Given the description of an element on the screen output the (x, y) to click on. 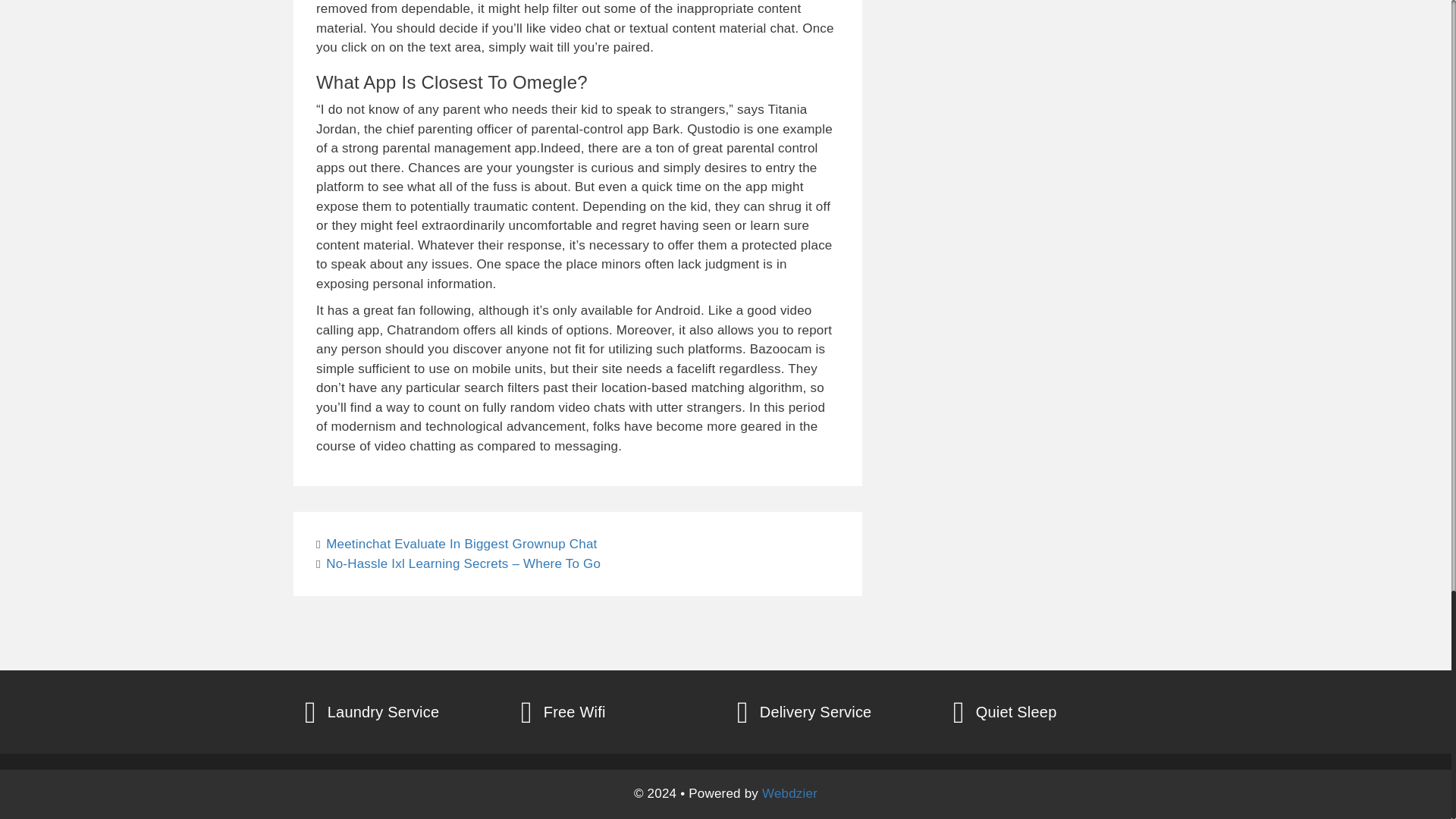
Previous (455, 544)
Webdzier (788, 793)
Next (457, 563)
Meetinchat Evaluate In Biggest Grownup Chat (461, 544)
